Given the description of an element on the screen output the (x, y) to click on. 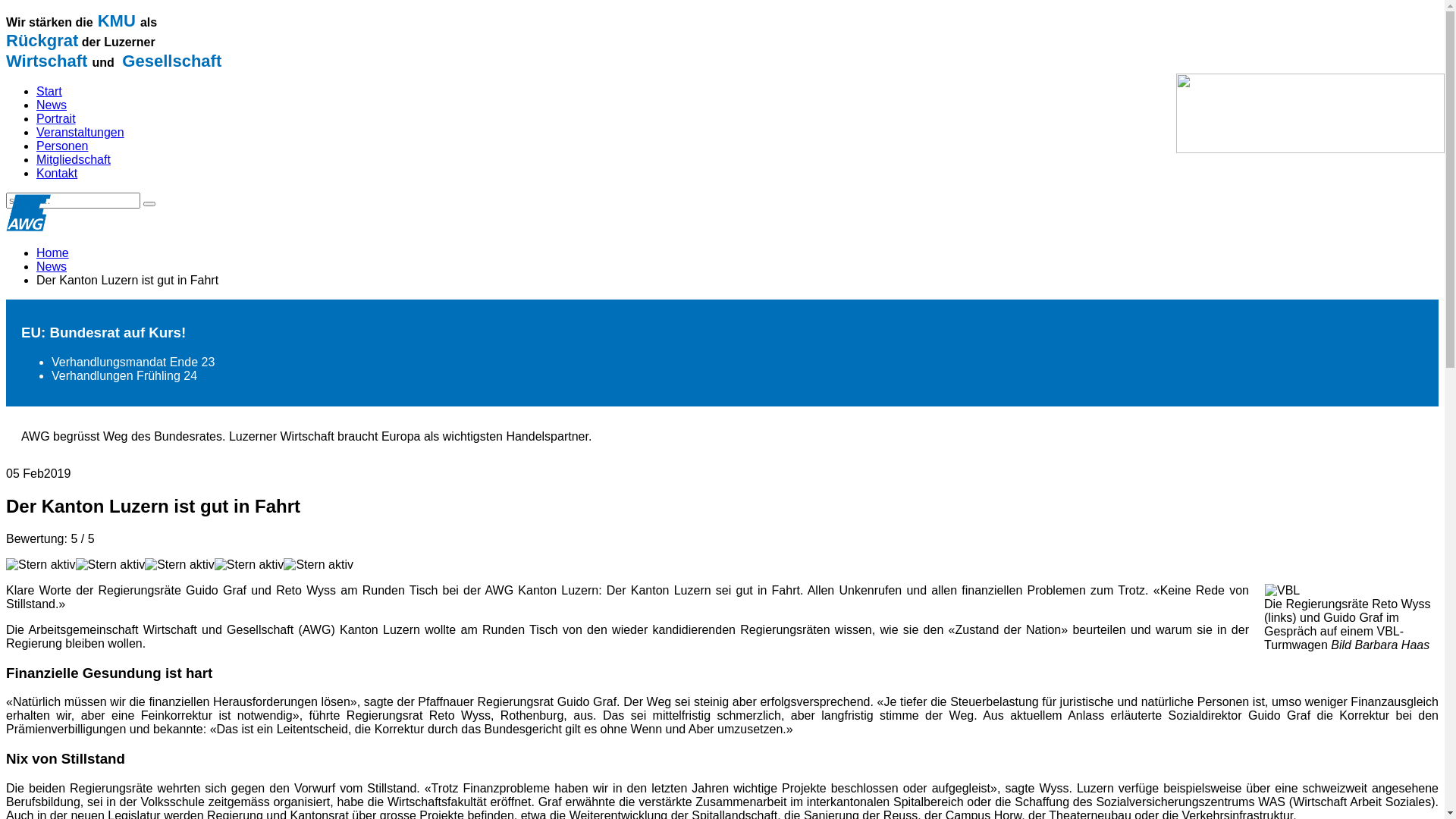
News Element type: text (51, 266)
Portrait Element type: text (55, 118)
Personen Element type: text (62, 145)
Start Element type: text (49, 90)
Veranstaltungen Element type: text (80, 131)
Home Element type: text (52, 252)
Kontakt Element type: text (56, 172)
Mitgliedschaft Element type: text (73, 159)
News Element type: text (51, 104)
